Given the description of an element on the screen output the (x, y) to click on. 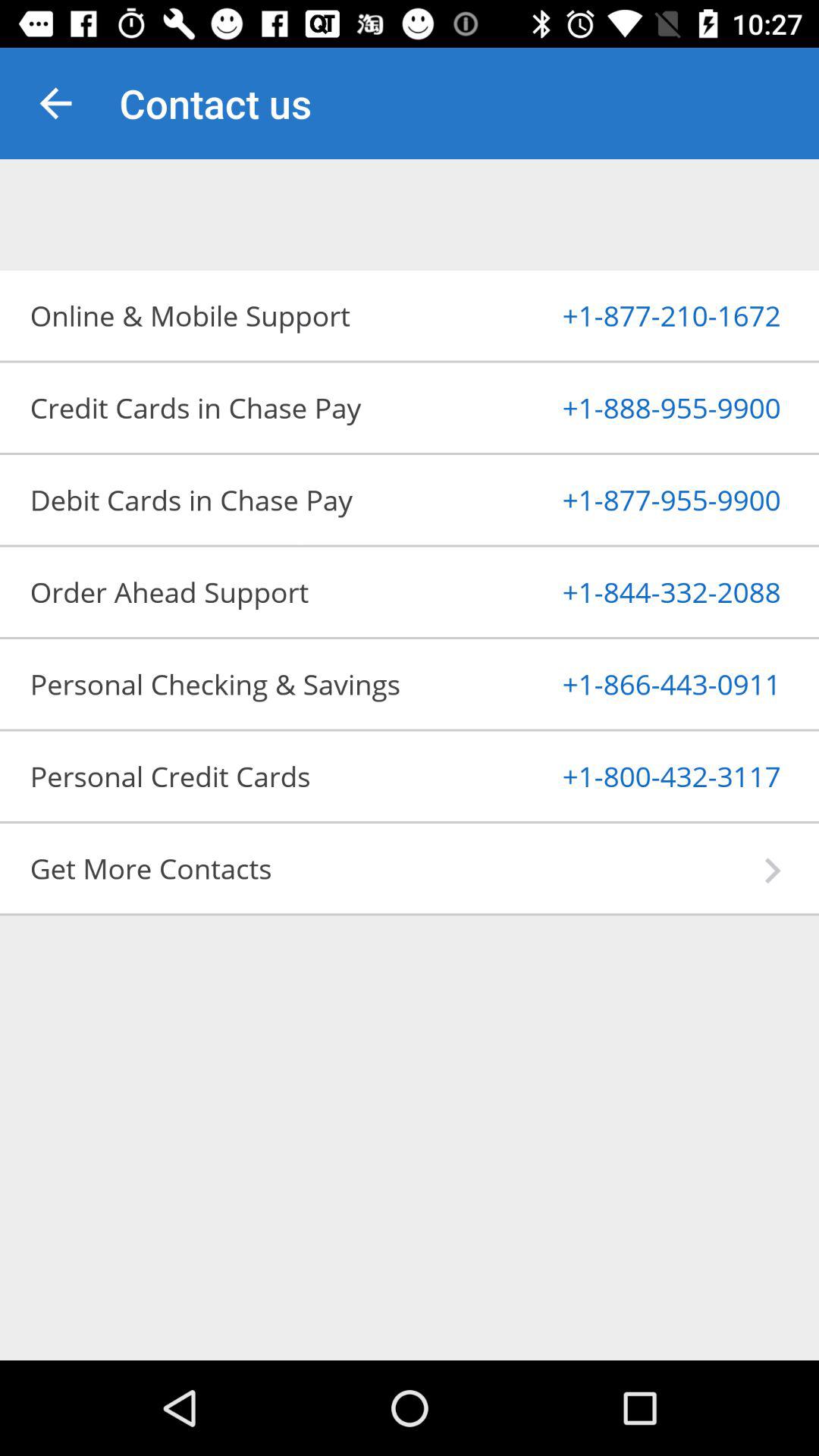
turn on the item to the right of order ahead support icon (634, 591)
